Given the description of an element on the screen output the (x, y) to click on. 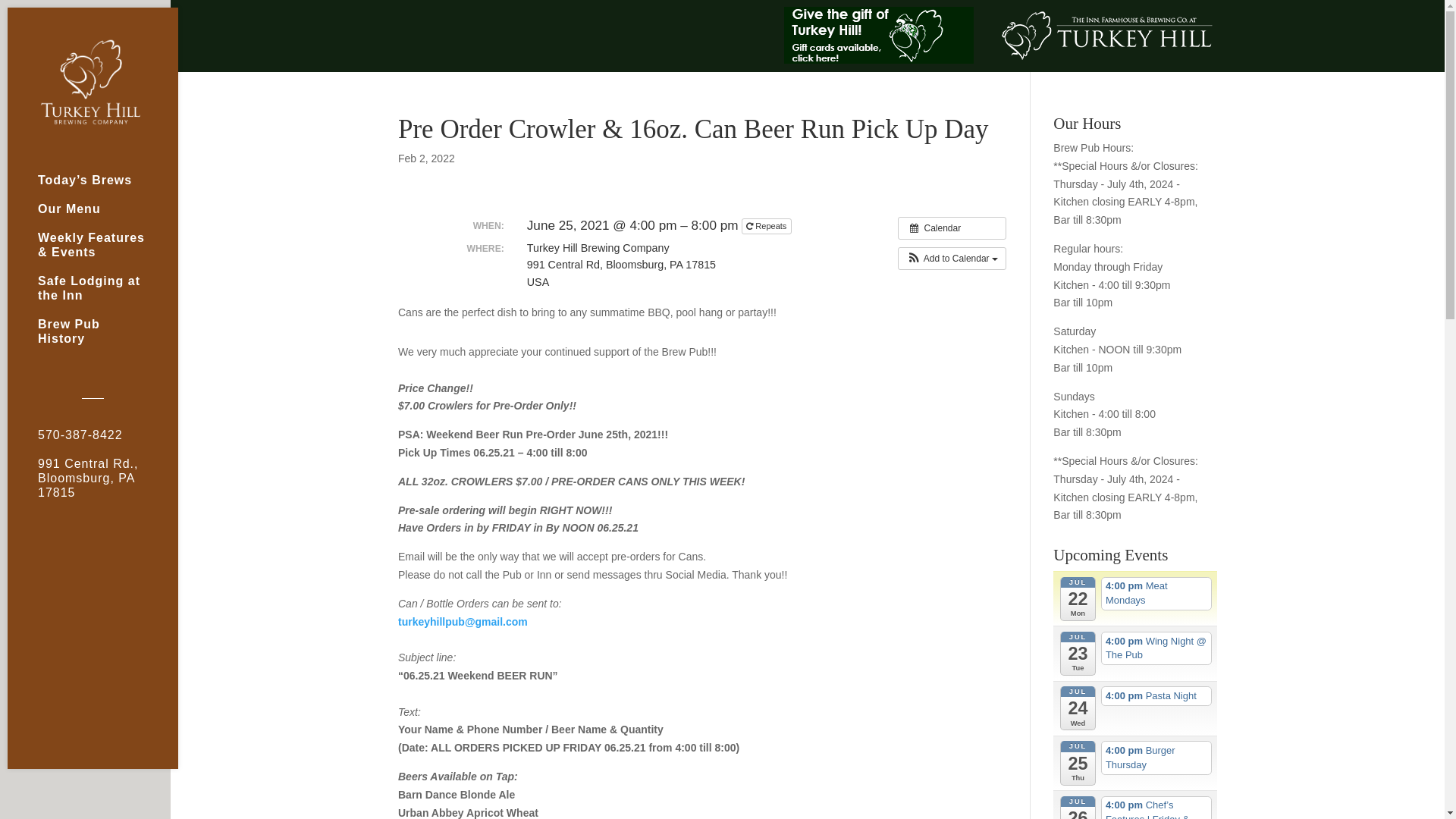
Brew Pub History (107, 338)
991 Central Rd., Bloomsburg, PA 17815 (107, 485)
Calendar (952, 228)
570-387-8422 (107, 441)
Repeats (766, 226)
View all events (952, 228)
Safe Lodging at the Inn (107, 294)
Weekly on Friday until July 1, 2021 (766, 226)
Our Menu (107, 215)
